Given the description of an element on the screen output the (x, y) to click on. 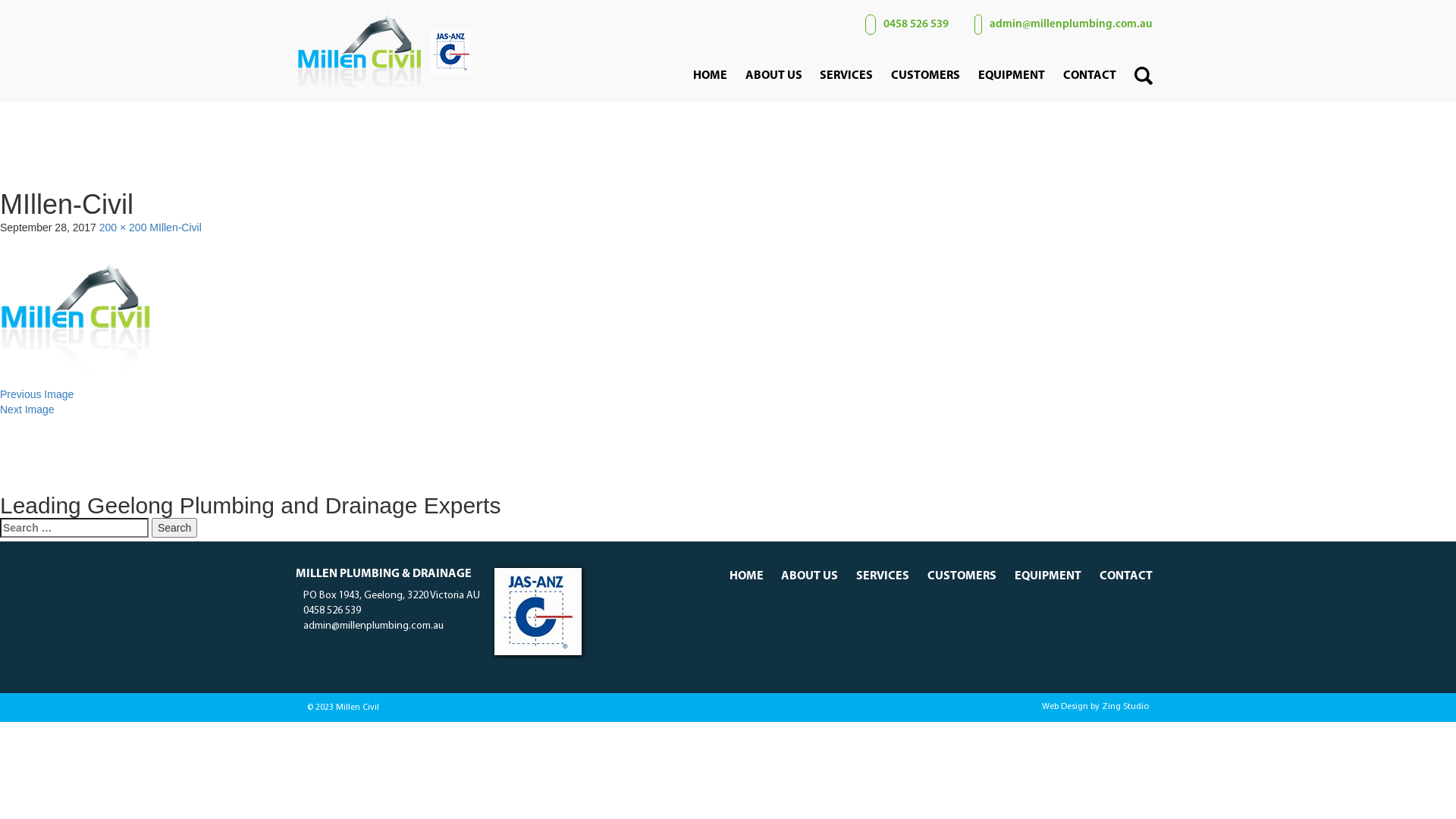
SERVICES Element type: text (846, 75)
ABOUT US Element type: text (773, 75)
CONTACT Element type: text (1089, 75)
Search Element type: text (174, 527)
CONTACT Element type: text (1126, 576)
0458 526 539 Element type: text (902, 24)
SERVICES Element type: text (882, 576)
MIllen-Civil Element type: text (174, 227)
0458 526 539 Element type: text (327, 607)
CUSTOMERS Element type: text (925, 75)
EQUIPMENT Element type: text (1011, 75)
CUSTOMERS Element type: text (961, 576)
HOME Element type: text (746, 576)
admin@millenplumbing.com.au Element type: text (1059, 24)
admin@millenplumbing.com.au Element type: text (369, 623)
ABOUT US Element type: text (809, 576)
HOME Element type: text (709, 75)
Web Design by Zing Studio Element type: text (943, 707)
EQUIPMENT Element type: text (1047, 576)
